Given the description of an element on the screen output the (x, y) to click on. 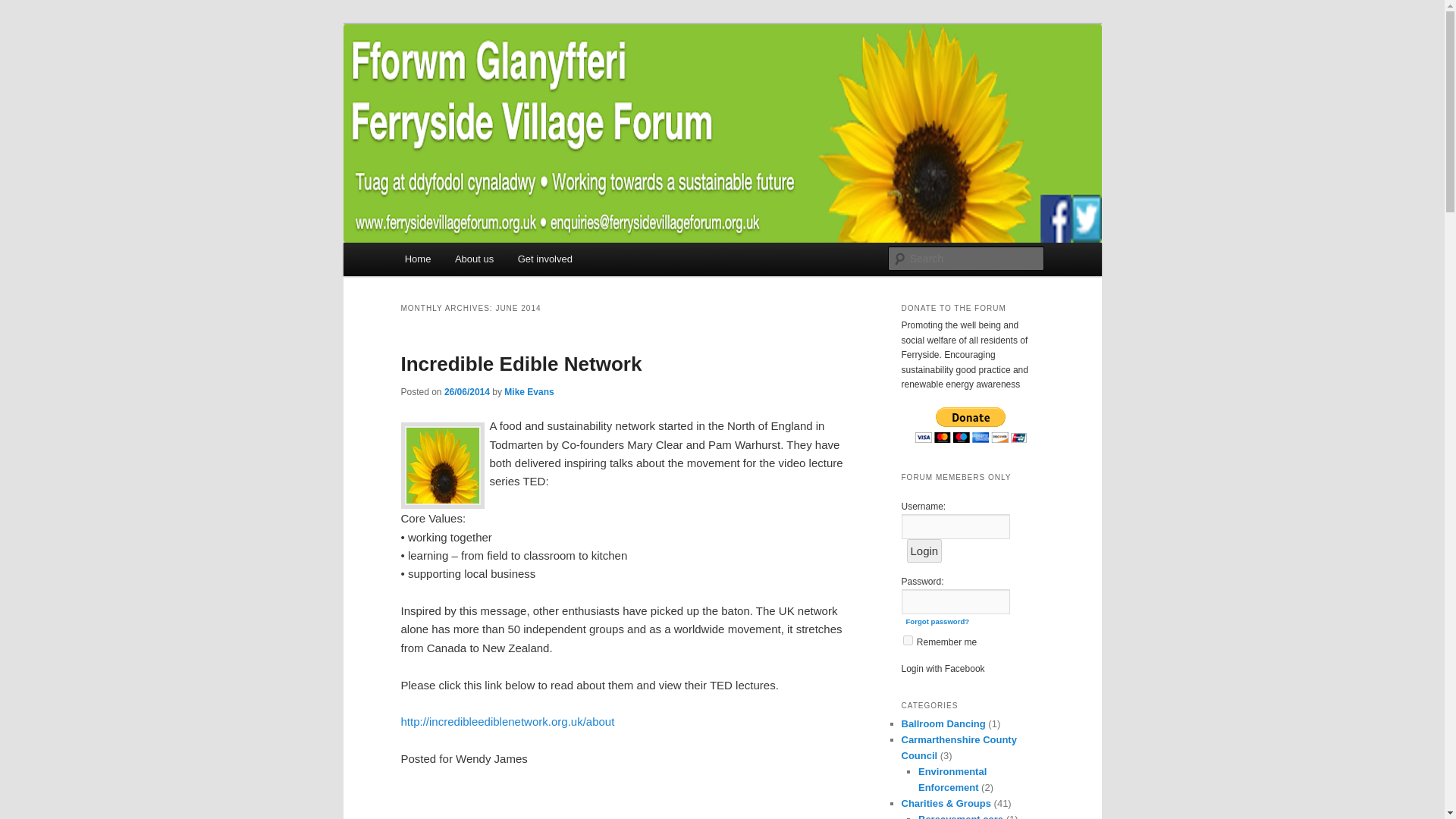
Incredible Edible Network (521, 363)
Mike Evans (528, 391)
forever (907, 640)
Permalink to Incredible Edible Network (521, 363)
Home (417, 258)
Login (924, 550)
Skip to primary content (472, 261)
Skip to secondary content (479, 261)
Skip to primary content (472, 261)
About us (473, 258)
